Given the description of an element on the screen output the (x, y) to click on. 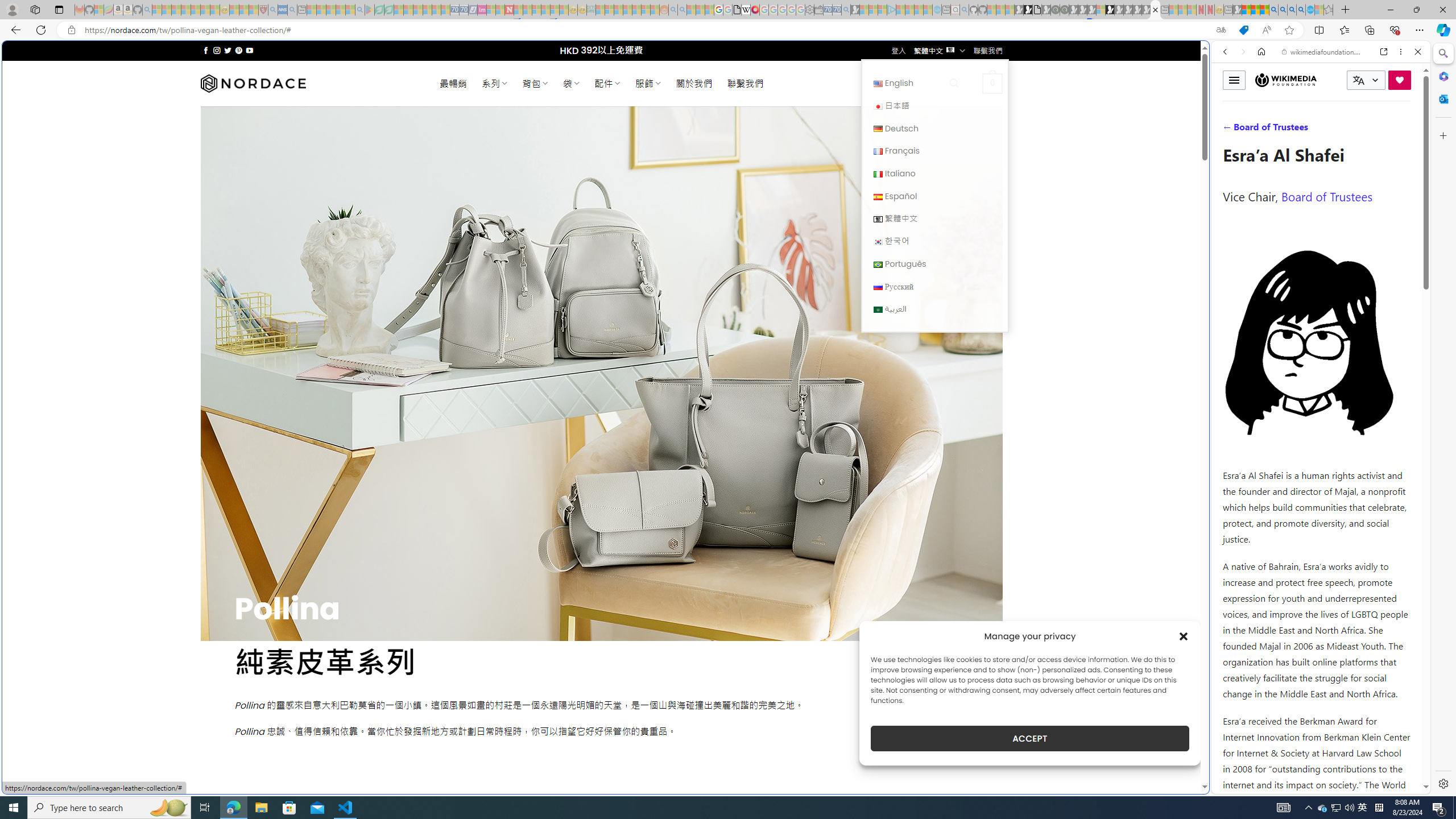
Follow on Facebook (205, 50)
Frequently visited (965, 151)
Jobs - lastminute.com Investor Portal - Sleeping (482, 9)
English (877, 83)
